Given the description of an element on the screen output the (x, y) to click on. 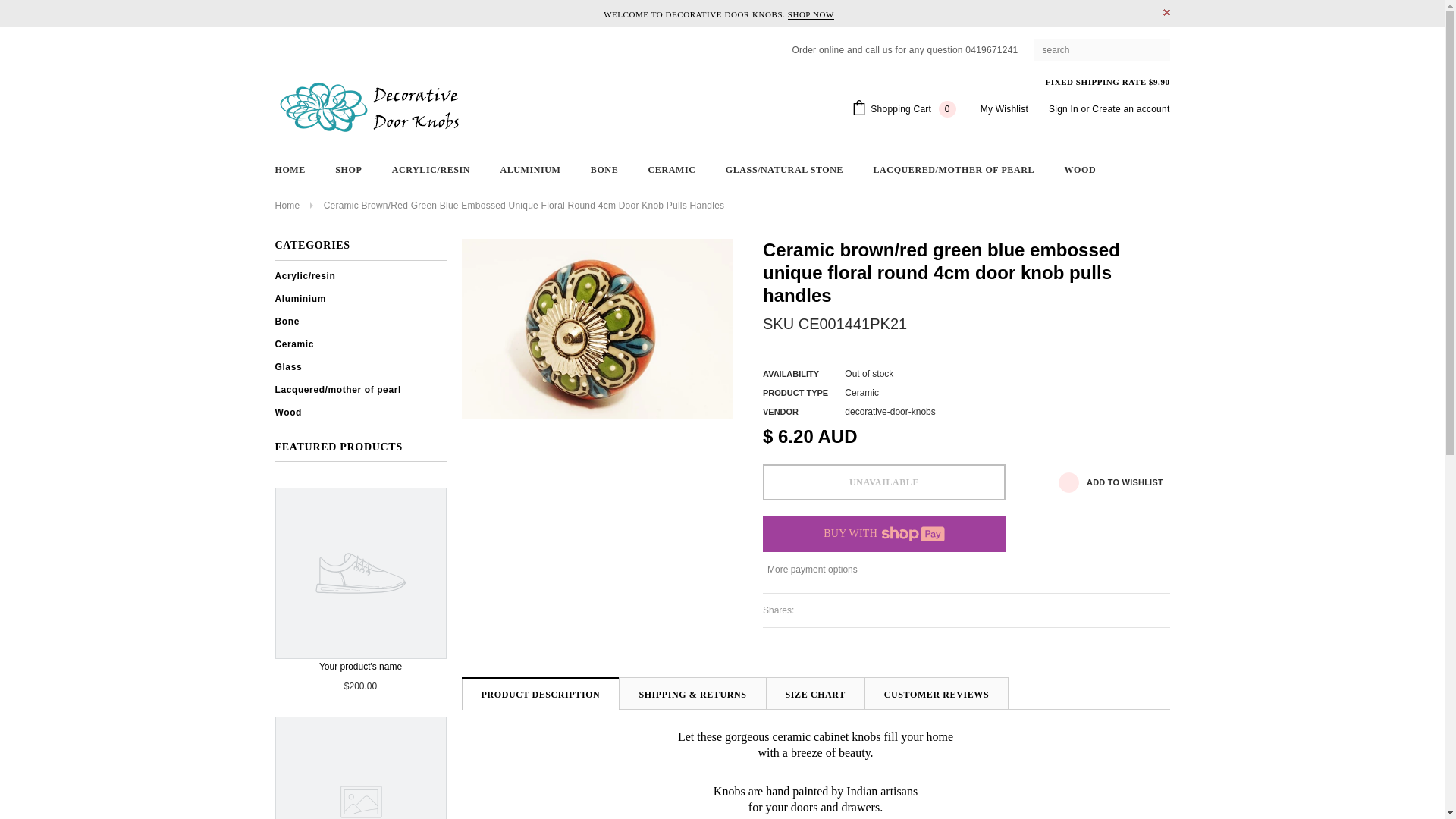
Create an account Element type: text (1130, 108)
CLOSE Element type: text (1166, 12)
Ceramic Element type: text (293, 343)
Bone Element type: text (286, 320)
SHOP Element type: text (348, 169)
Aluminium Element type: text (299, 297)
WOOD Element type: text (1079, 169)
ADD TO WISHLIST Element type: text (1110, 481)
CERAMIC Element type: text (672, 169)
Wood Element type: text (287, 411)
Your product's name Element type: text (359, 580)
Unavailable Element type: text (883, 482)
BONE Element type: text (604, 169)
Lacquered/mother of pearl Element type: text (337, 388)
PRODUCT DESCRIPTION Element type: text (540, 693)
GLASS/NATURAL STONE Element type: text (784, 169)
More payment options Element type: text (966, 569)
ALUMINIUM Element type: text (529, 169)
Acrylic/resin Element type: text (304, 274)
HOME Element type: text (289, 169)
SHOP NOW Element type: text (810, 14)
SIZE CHART Element type: text (815, 693)
LACQUERED/MOTHER OF PEARL Element type: text (954, 169)
Home Element type: text (286, 205)
Sign In Element type: text (1063, 108)
SHIPPING & RETURNS Element type: text (691, 693)
CUSTOMER REVIEWS Element type: text (936, 693)
My Wishlist Element type: text (1004, 108)
Shopping Cart 0 Element type: text (903, 108)
ACRYLIC/RESIN Element type: text (431, 169)
Glass Element type: text (287, 365)
